Given the description of an element on the screen output the (x, y) to click on. 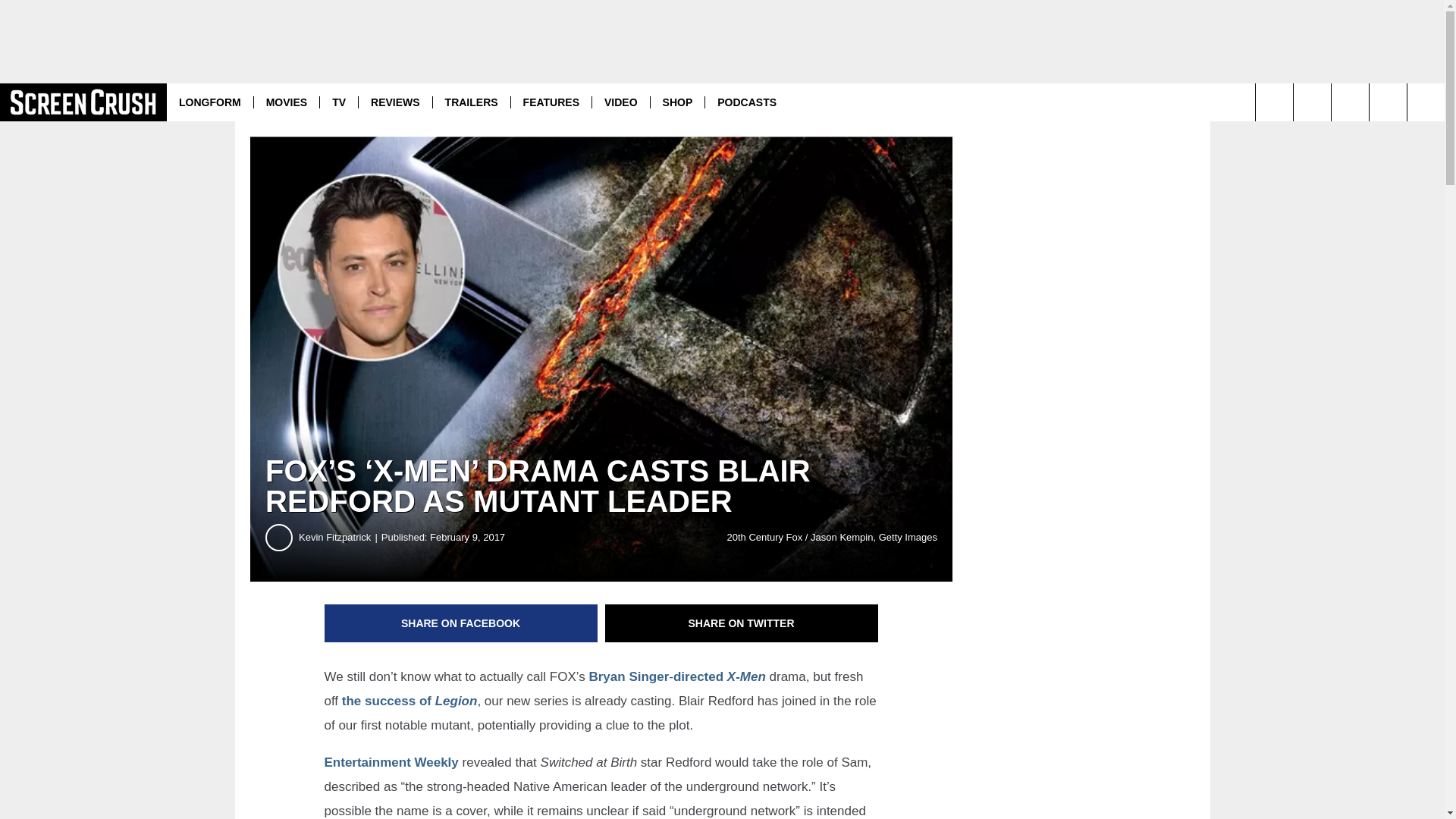
TV (338, 102)
REVIEWS (395, 102)
Visit us on Facebook (1388, 102)
Share on Facebook (460, 623)
X-Men (745, 676)
MOVIES (285, 102)
Visit us on Instagram (1312, 102)
directed (697, 676)
PODCASTS (746, 102)
SHOP (676, 102)
